Given the description of an element on the screen output the (x, y) to click on. 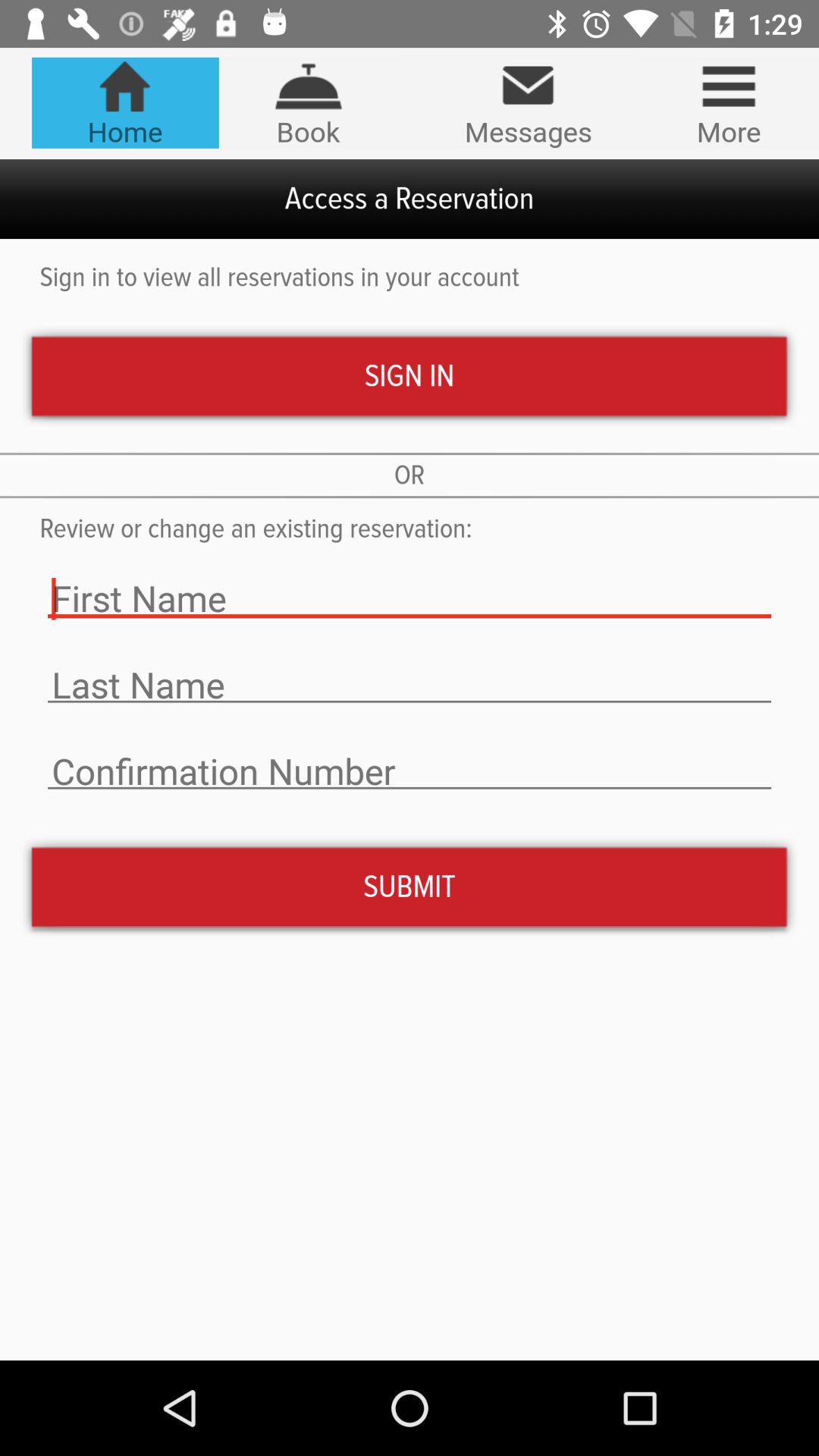
enter neme (409, 685)
